Given the description of an element on the screen output the (x, y) to click on. 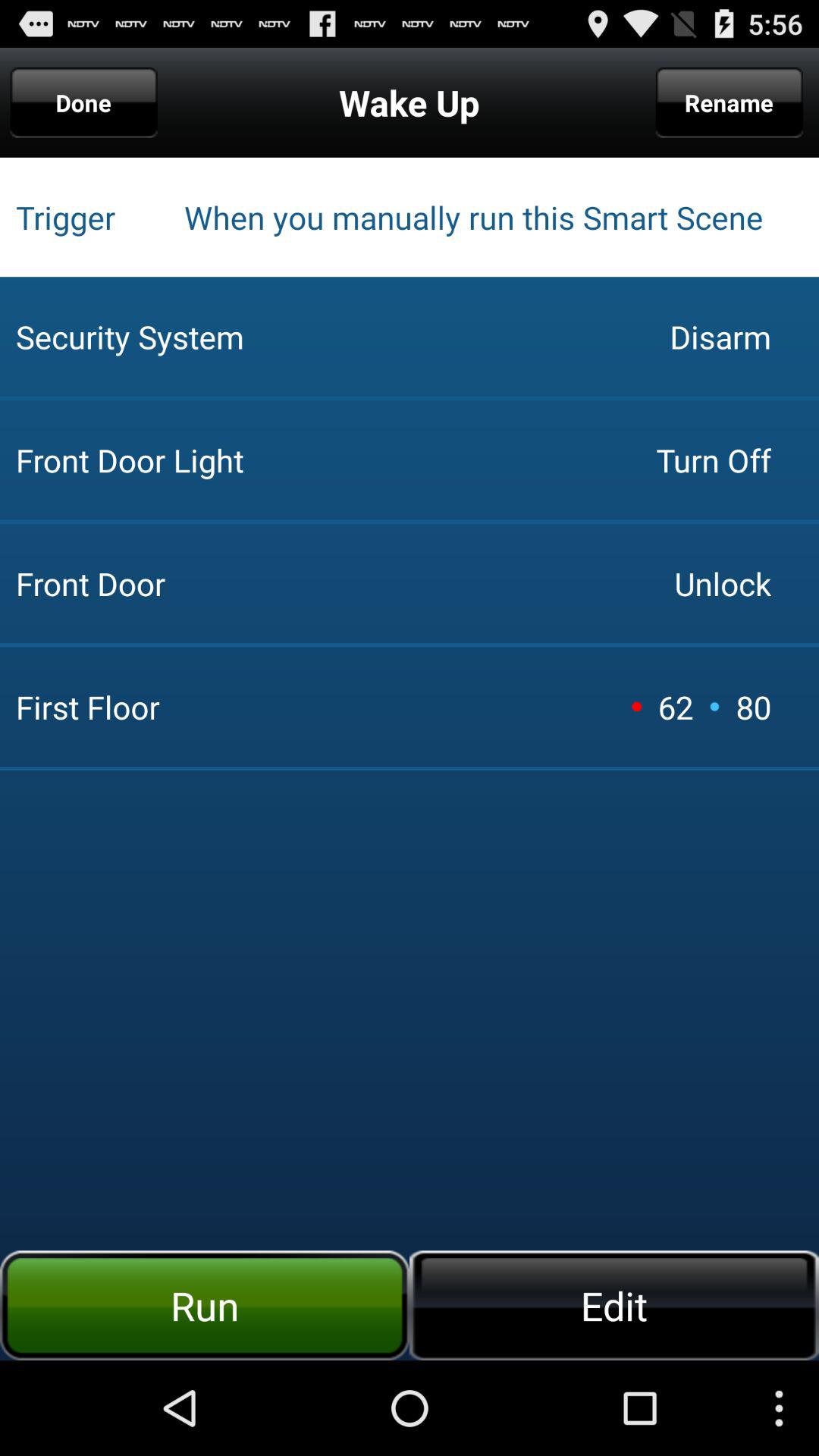
tap icon to the left of turn off icon (329, 336)
